Given the description of an element on the screen output the (x, y) to click on. 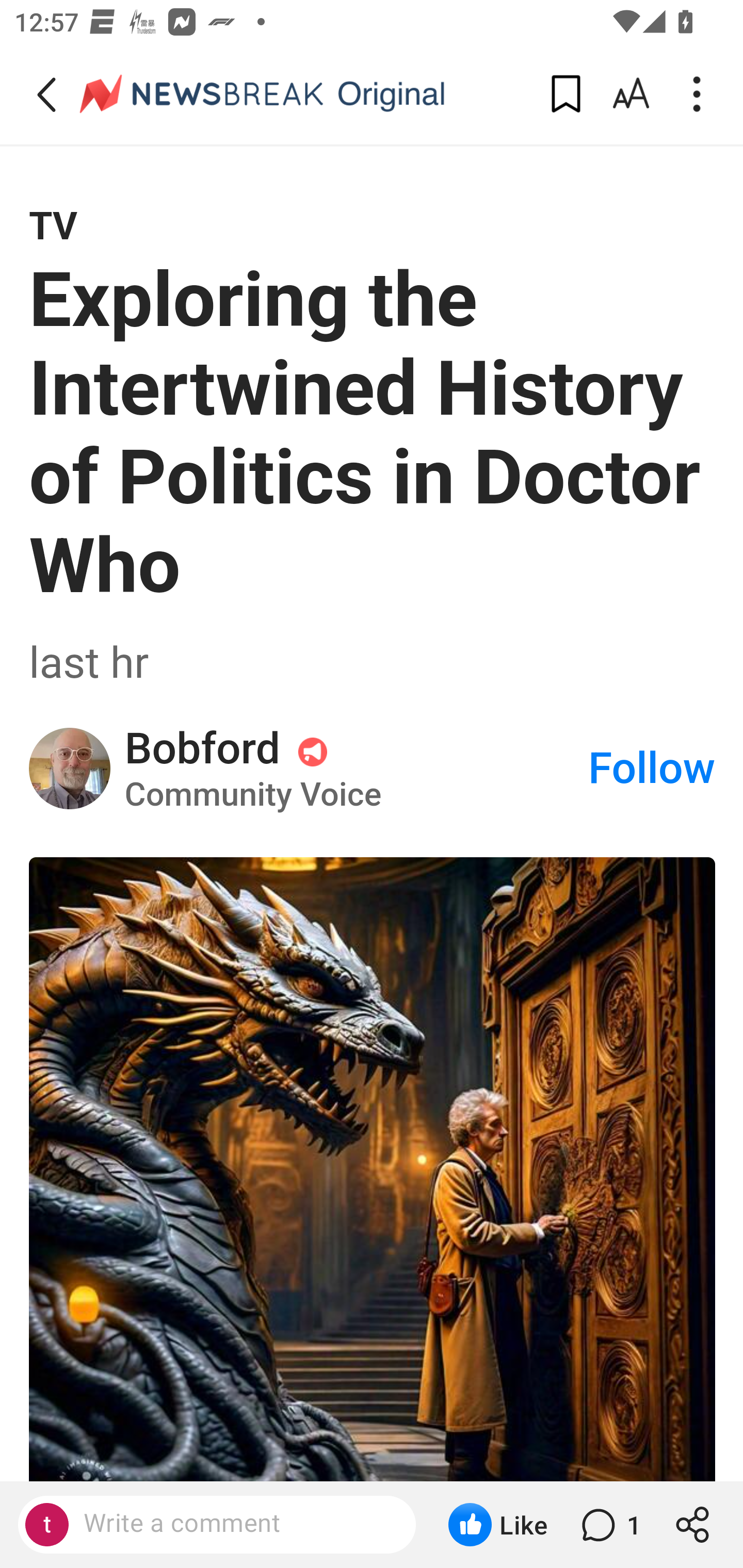
Bobford  Community Voice (355, 767)
Bobford (70, 768)
Follow (651, 767)
Like (497, 1524)
1 (608, 1524)
Write a comment (234, 1523)
